Given the description of an element on the screen output the (x, y) to click on. 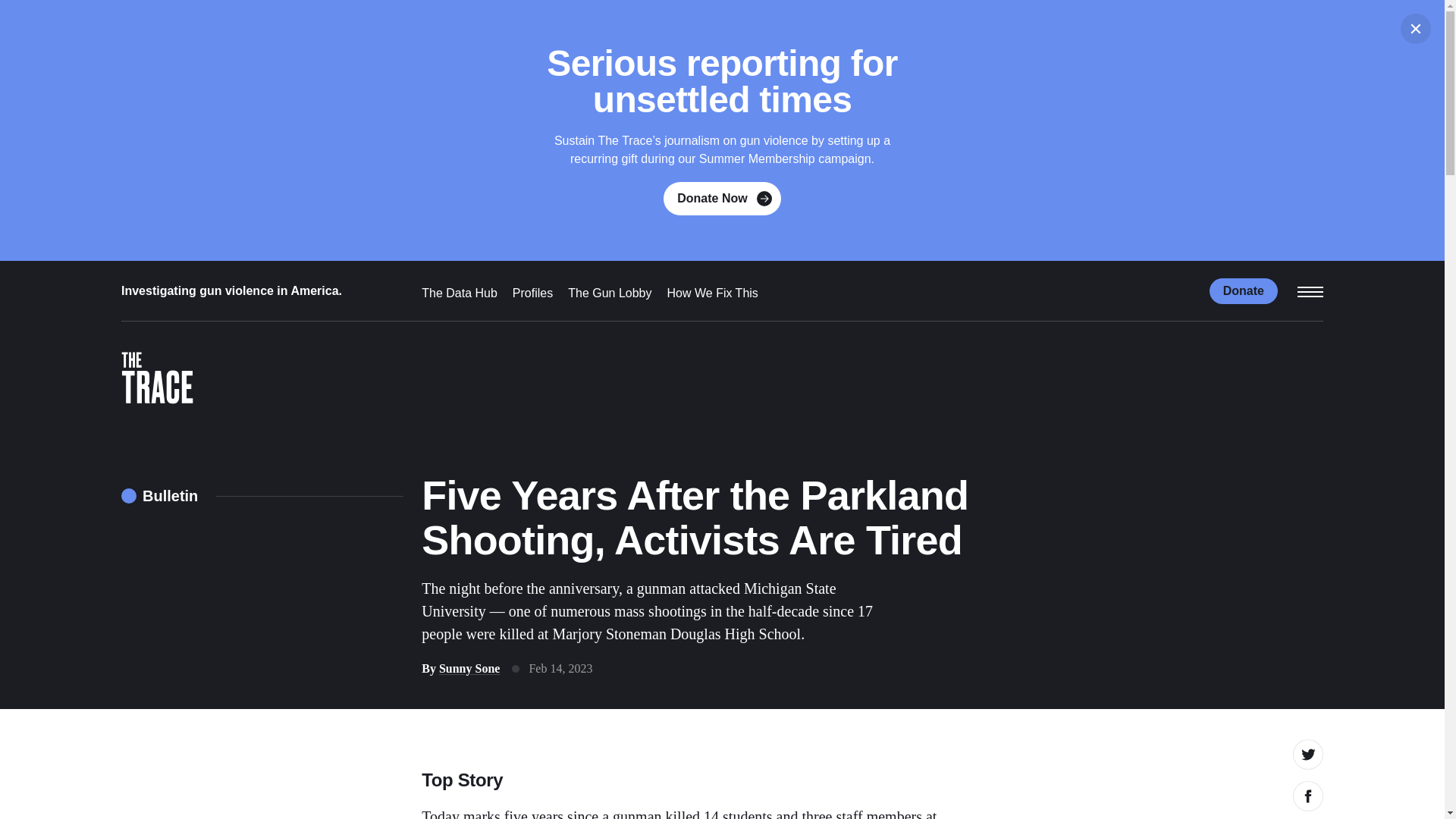
Close (1415, 28)
Profiles (532, 292)
Sunny Sone (469, 667)
Bulletin (159, 496)
Share on Facebook (1307, 796)
Donate (1243, 290)
The Trace (156, 381)
Share on Twitter (1307, 754)
Donate Now (721, 198)
How We Fix This (712, 292)
The Gun Lobby (608, 292)
The Data Hub (459, 292)
